Given the description of an element on the screen output the (x, y) to click on. 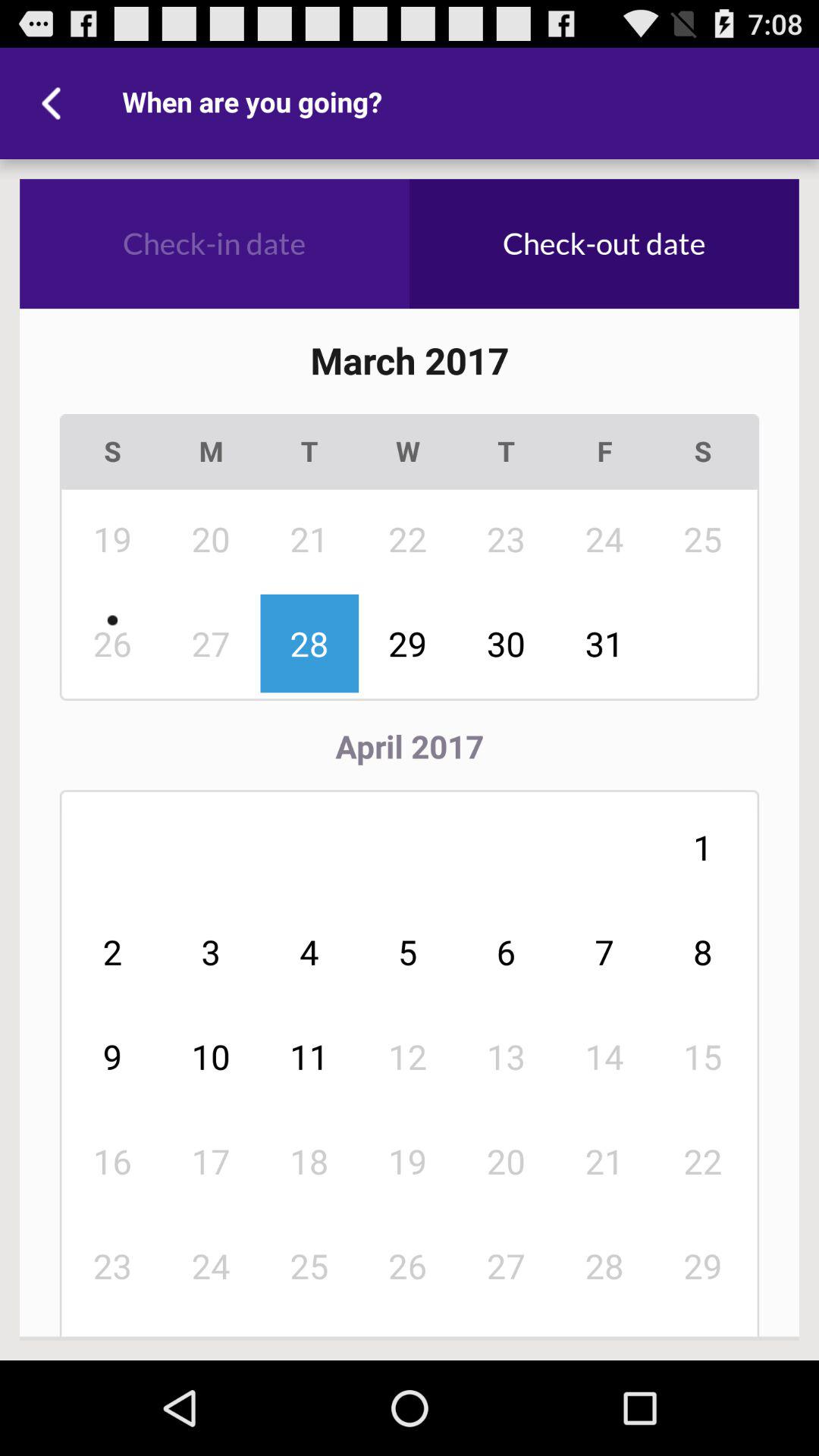
press icon to the right of 7 (703, 1056)
